Given the description of an element on the screen output the (x, y) to click on. 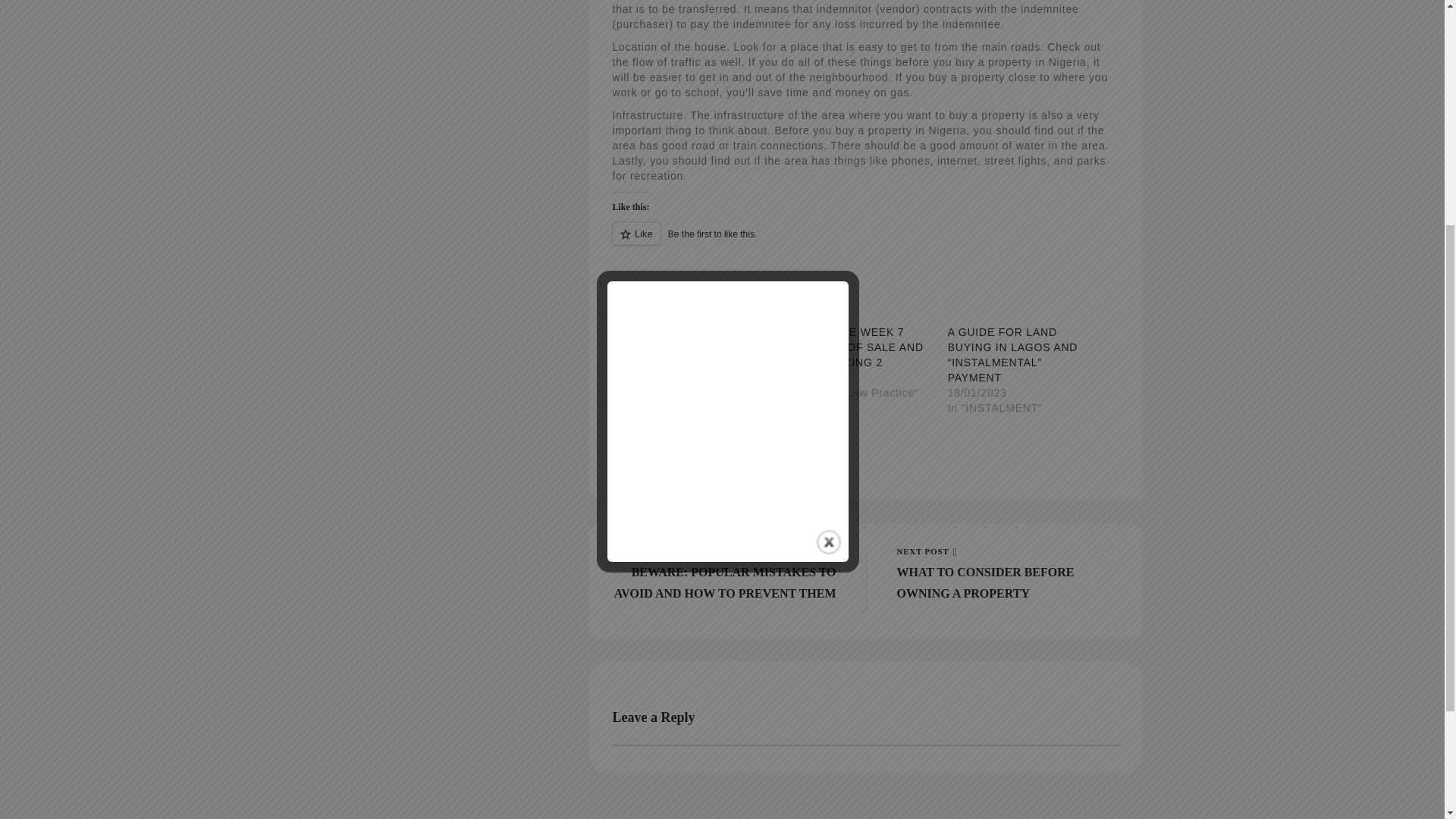
VIEW FULL SCHEDULE OF MATERIALS (611, 380)
Close (828, 180)
YouTube video player (727, 82)
PL-PRACTICE WEEK 7 CONTRACT OF SALE AND CONVEYANCING 2 (1007, 551)
Like or Reblog (851, 346)
Search (865, 241)
Comment Form (458, 389)
PL-PRACTICE WEEK 7 CONTRACT OF SALE AND CONVEYANCING 2 (1058, 380)
